Given the description of an element on the screen output the (x, y) to click on. 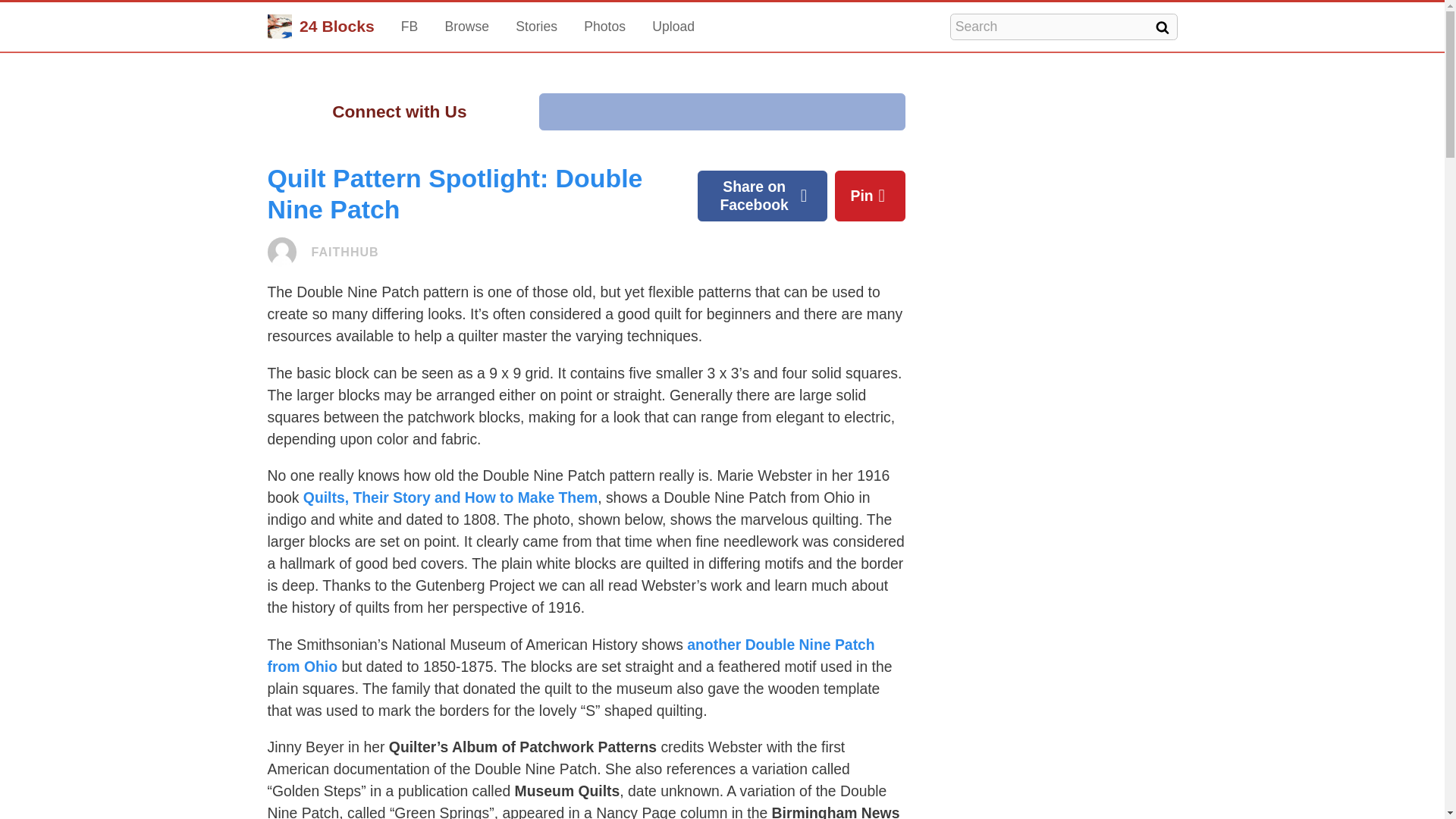
Share on Facebook (762, 195)
Stories (536, 26)
Pin (869, 195)
Link to Quilt Pattern Spotlight: Double Nine Patch (454, 193)
Quilts, Their Story and How to Make Them (449, 497)
another Double Nine Patch from Ohio (570, 655)
Photos (604, 26)
Share on Facebook (762, 195)
Upload (673, 26)
Share on Pinterest (869, 195)
